Given the description of an element on the screen output the (x, y) to click on. 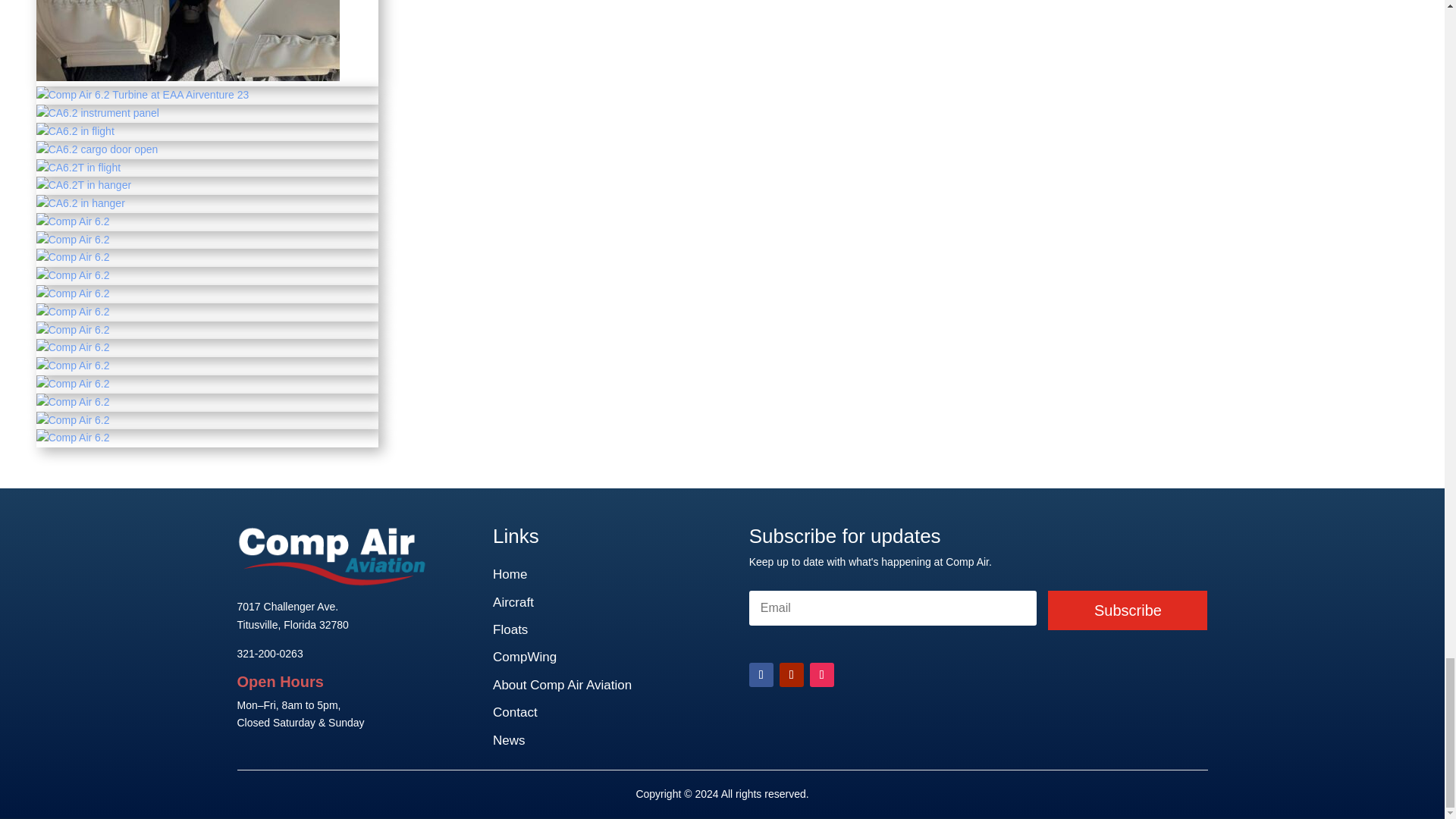
CA6-2 inside-1000 (187, 77)
Comp Air 6.2 in Flight (75, 131)
CA6 Tubine Cargo door-1 (97, 149)
